Given the description of an element on the screen output the (x, y) to click on. 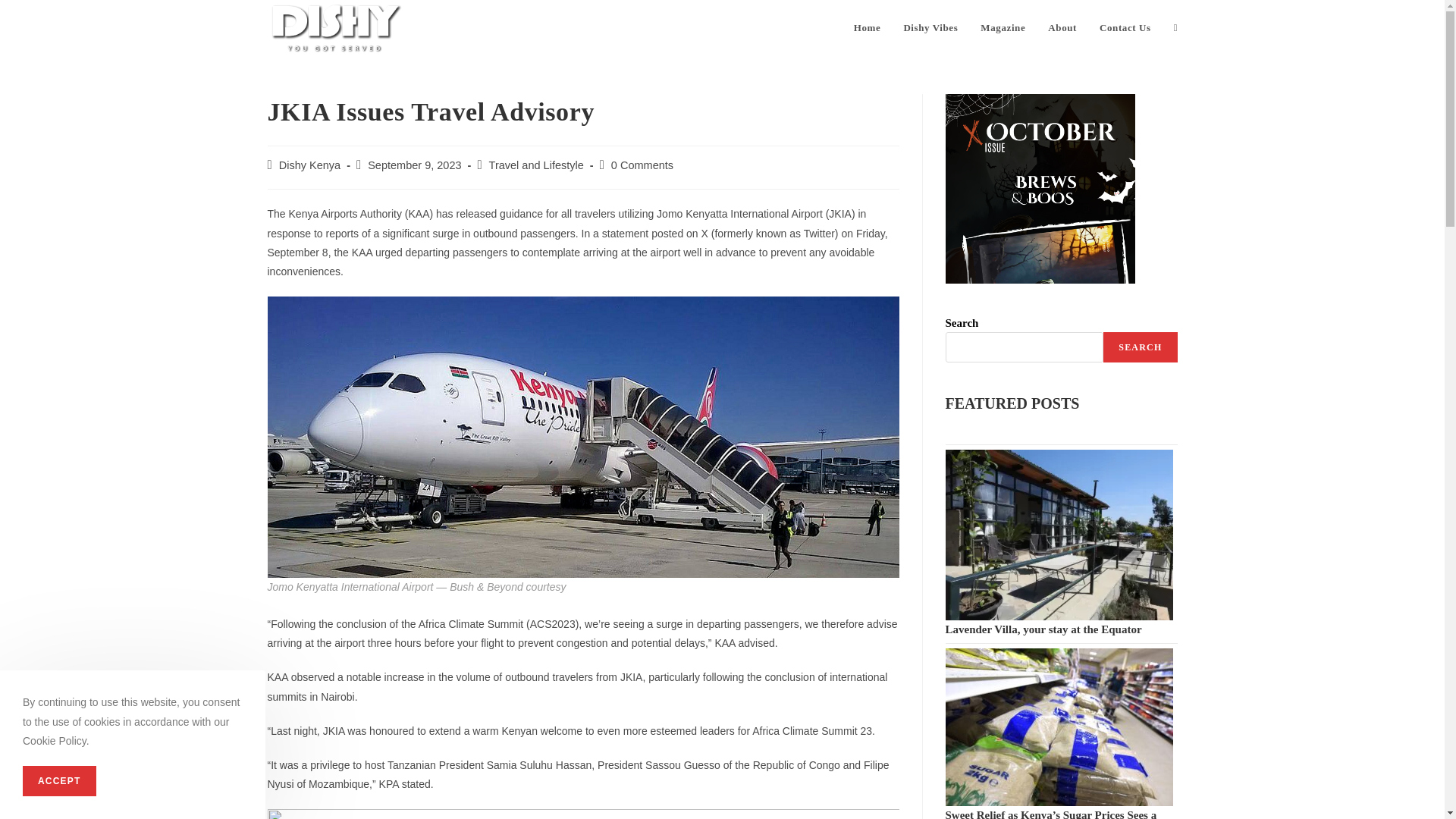
Dishy Vibes (930, 28)
Dishy Kenya (309, 164)
Home (867, 28)
Posts by Dishy Kenya (309, 164)
Travel and Lifestyle (536, 164)
Magazine (1002, 28)
0 Comments (641, 164)
SEARCH (1139, 347)
Lavender Villa, your stay at the Equator (1042, 629)
Contact Us (1124, 28)
About (1061, 28)
